Given the description of an element on the screen output the (x, y) to click on. 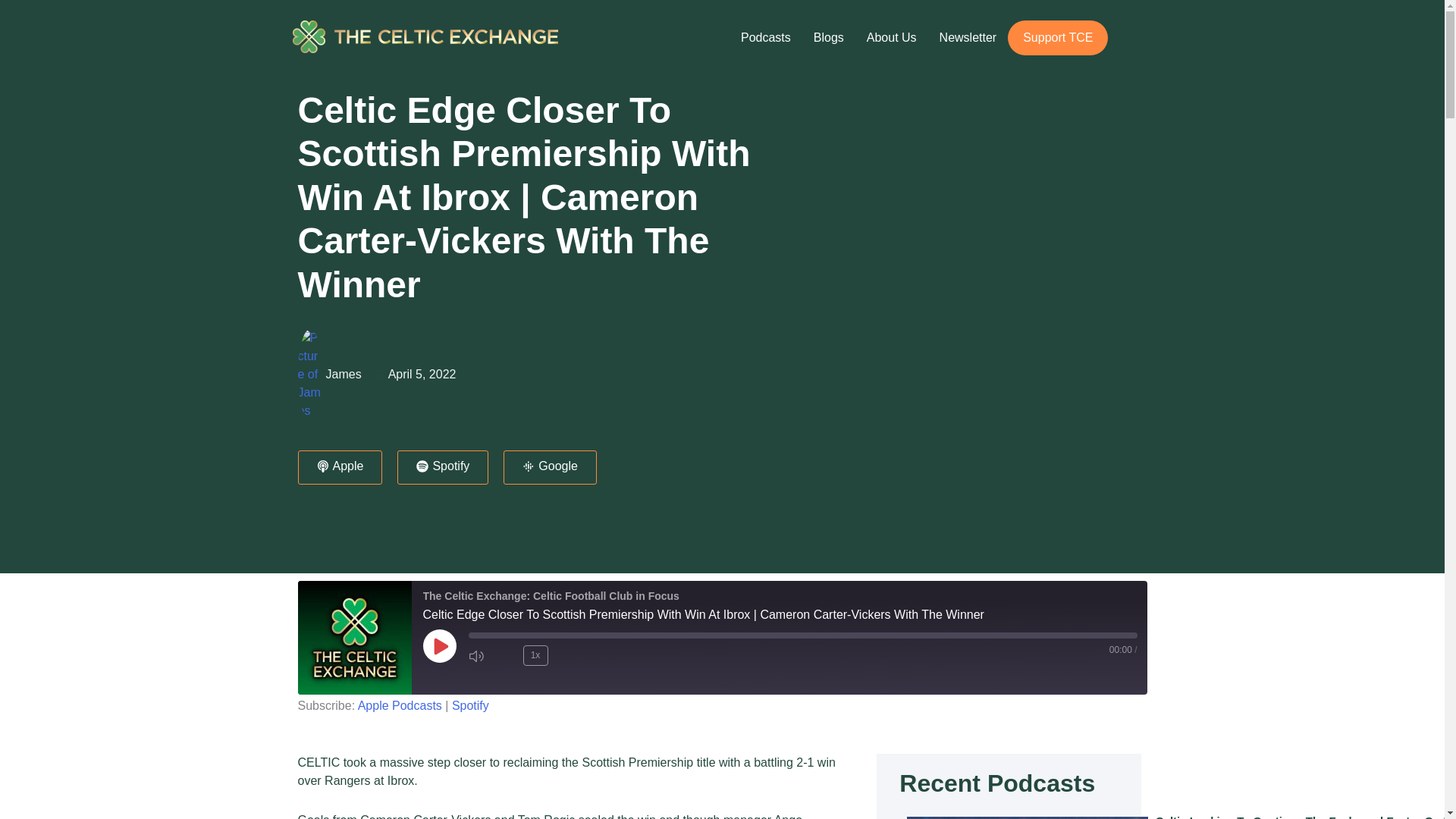
1x (535, 655)
About Us (891, 37)
Rewind 10 Seconds (507, 655)
Google (549, 467)
Fast Forward 30 seconds (566, 655)
Apple (339, 467)
Spotify (442, 467)
Newsletter (968, 37)
Play (440, 645)
Rewind 10 seconds (507, 655)
